Given the description of an element on the screen output the (x, y) to click on. 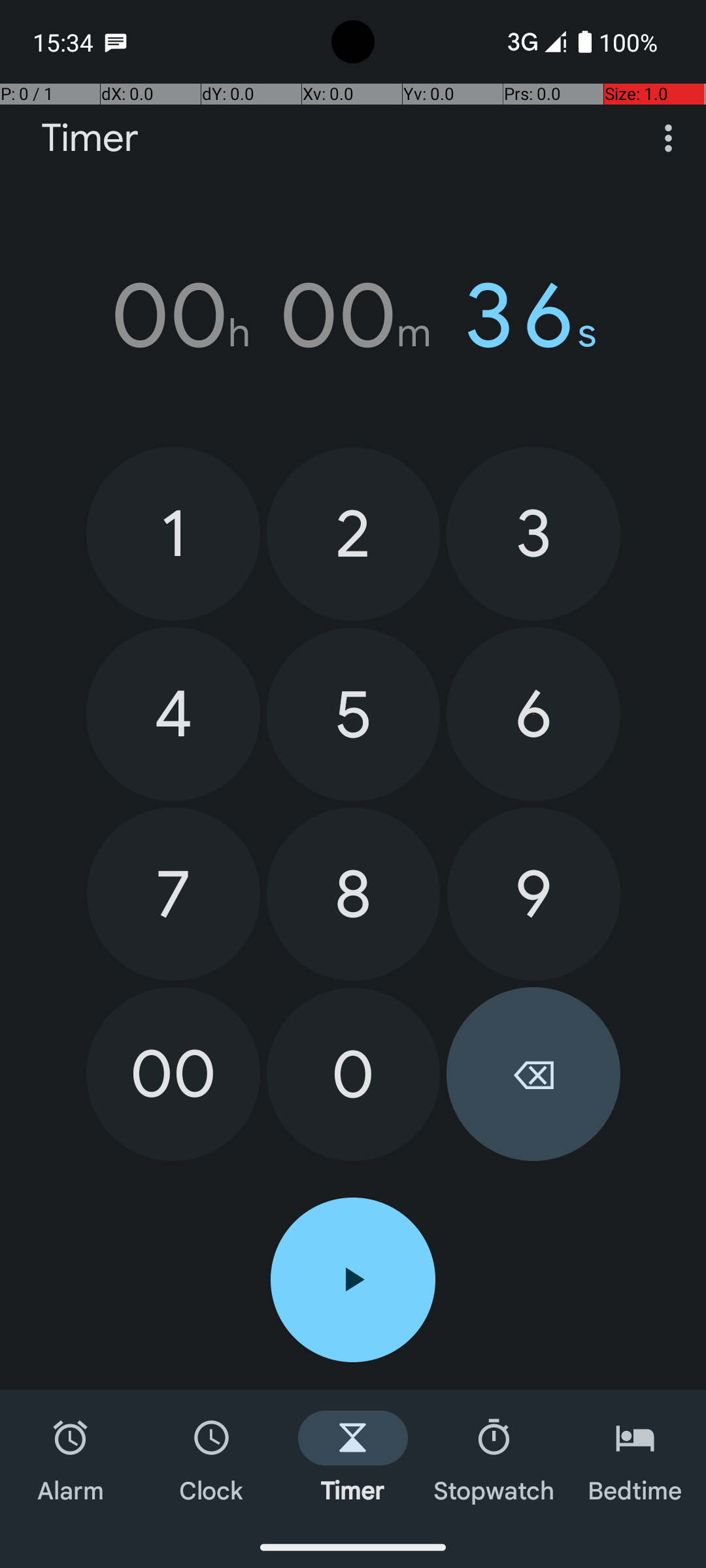
00h 00m 36s Element type: android.widget.TextView (353, 315)
